Given the description of an element on the screen output the (x, y) to click on. 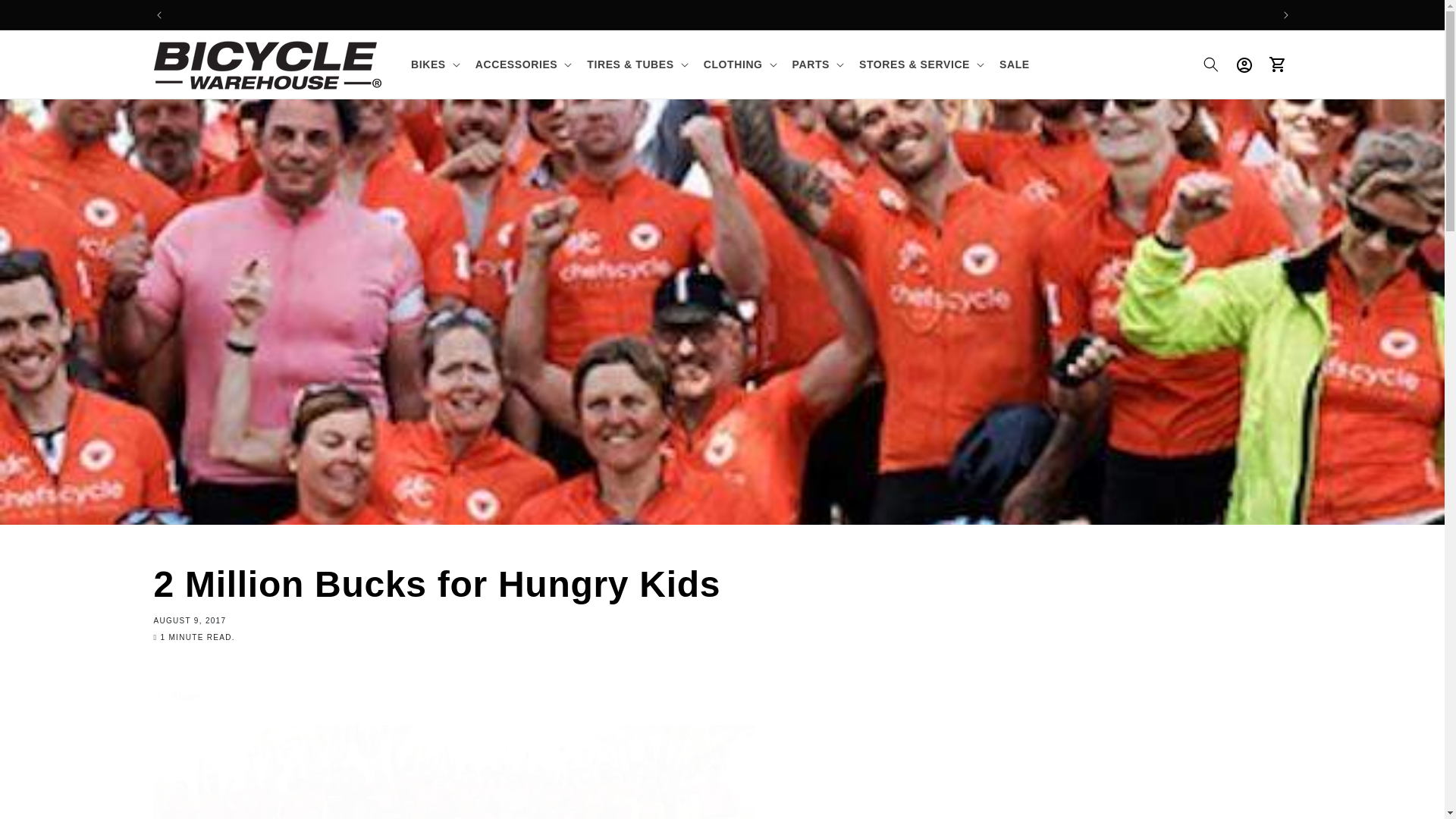
Skip to content (45, 16)
Share (721, 696)
